Given the description of an element on the screen output the (x, y) to click on. 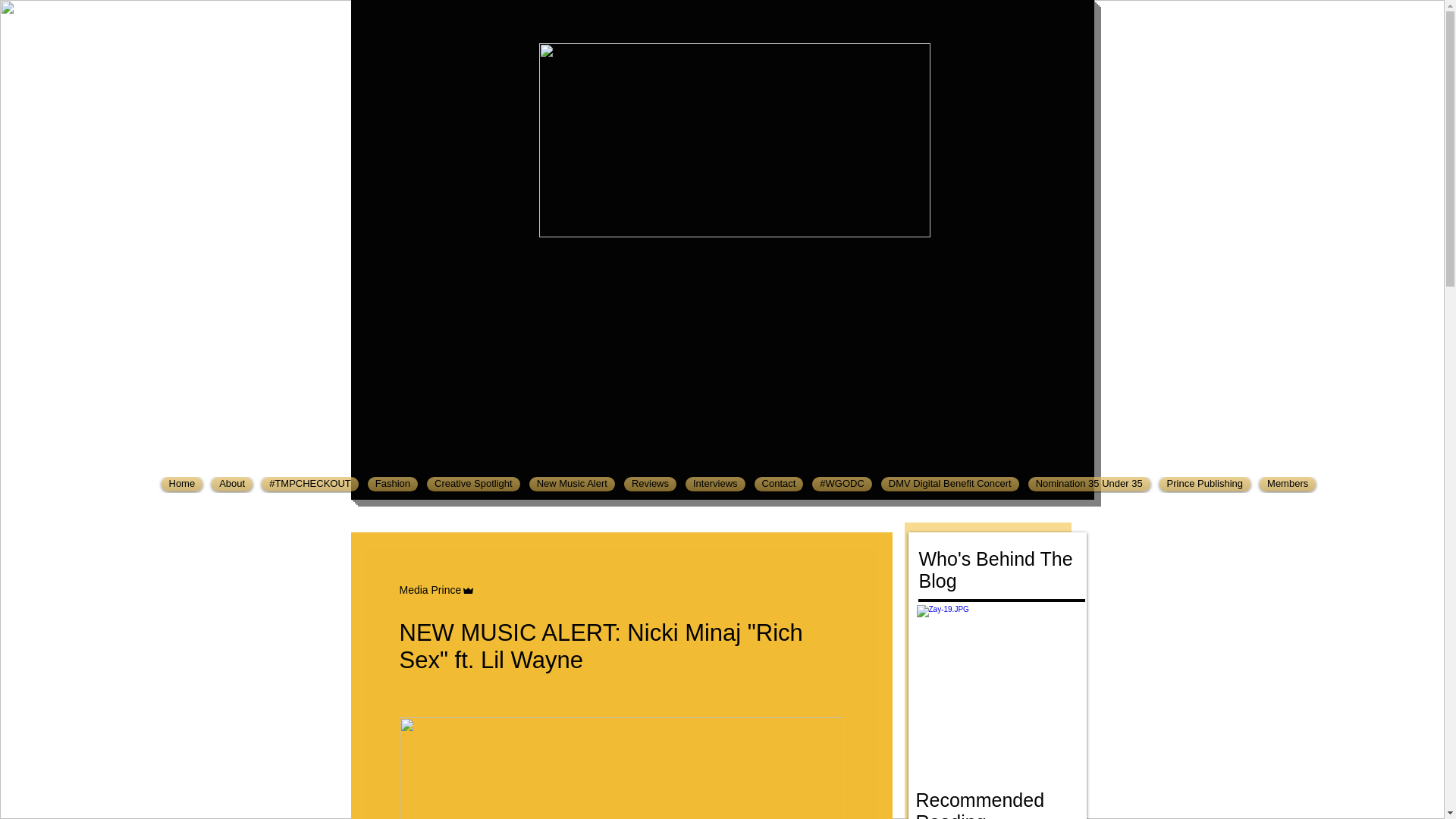
Home (180, 483)
Reviews (650, 483)
Contact (778, 483)
Interviews (715, 483)
Creative Spotlight (473, 483)
Fashion (392, 483)
Nomination 35 Under 35 (1088, 483)
DMV Digital Benefit Concert (949, 483)
Media Prince (437, 590)
Members (1287, 483)
About (231, 483)
New Music Alert (572, 483)
Prince Publishing (1204, 483)
Media Prince (429, 590)
